Given the description of an element on the screen output the (x, y) to click on. 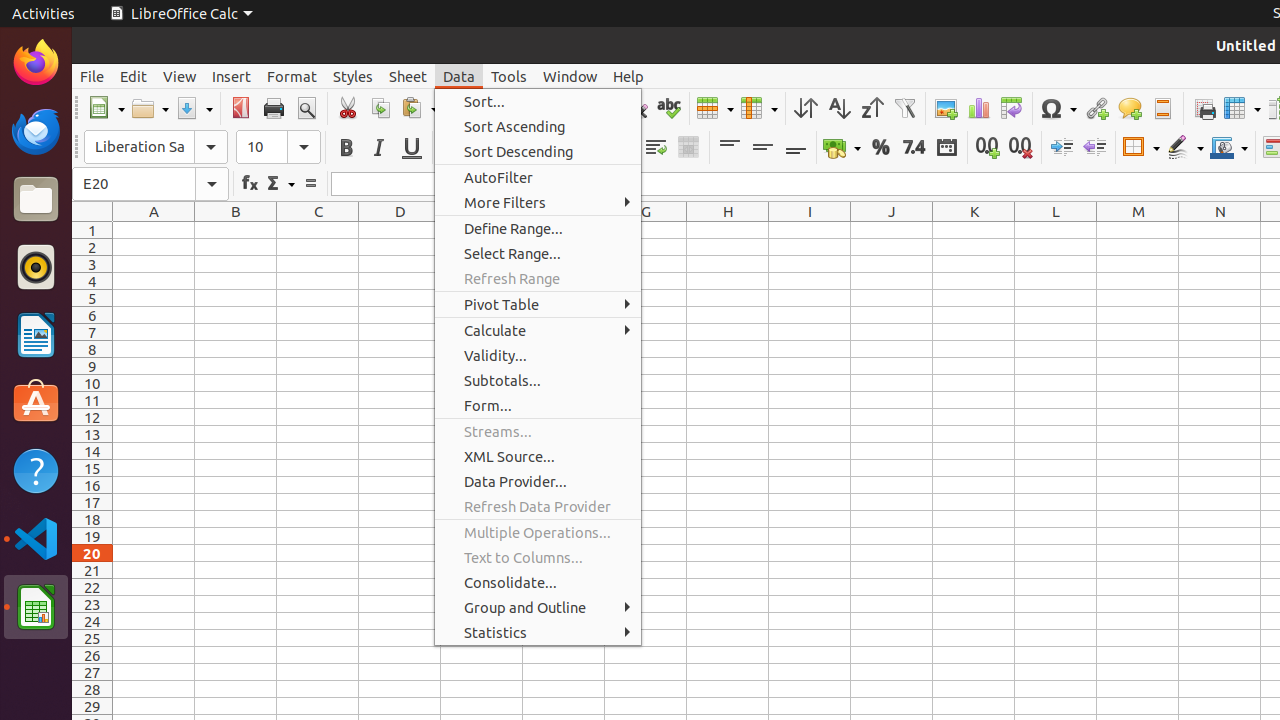
LibreOffice Calc Element type: push-button (36, 607)
Multiple Operations... Element type: menu-item (538, 532)
Add Decimal Place Element type: push-button (987, 147)
Sort Element type: push-button (805, 108)
Window Element type: menu (570, 76)
